Given the description of an element on the screen output the (x, y) to click on. 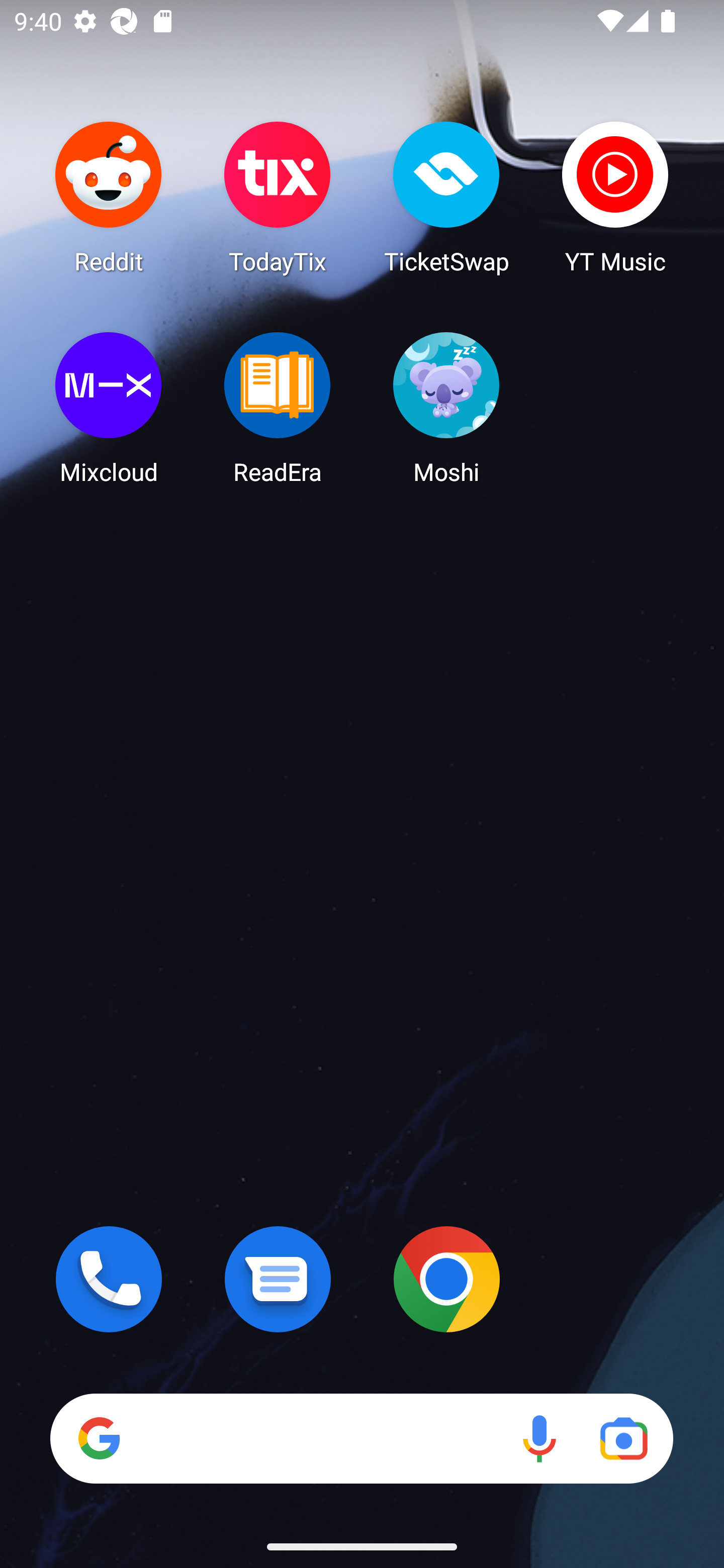
Reddit (108, 196)
TodayTix (277, 196)
TicketSwap (445, 196)
YT Music (615, 196)
Mixcloud (108, 407)
ReadEra (277, 407)
Moshi (445, 407)
Phone (108, 1279)
Messages (277, 1279)
Chrome (446, 1279)
Voice search (539, 1438)
Google Lens (623, 1438)
